Given the description of an element on the screen output the (x, y) to click on. 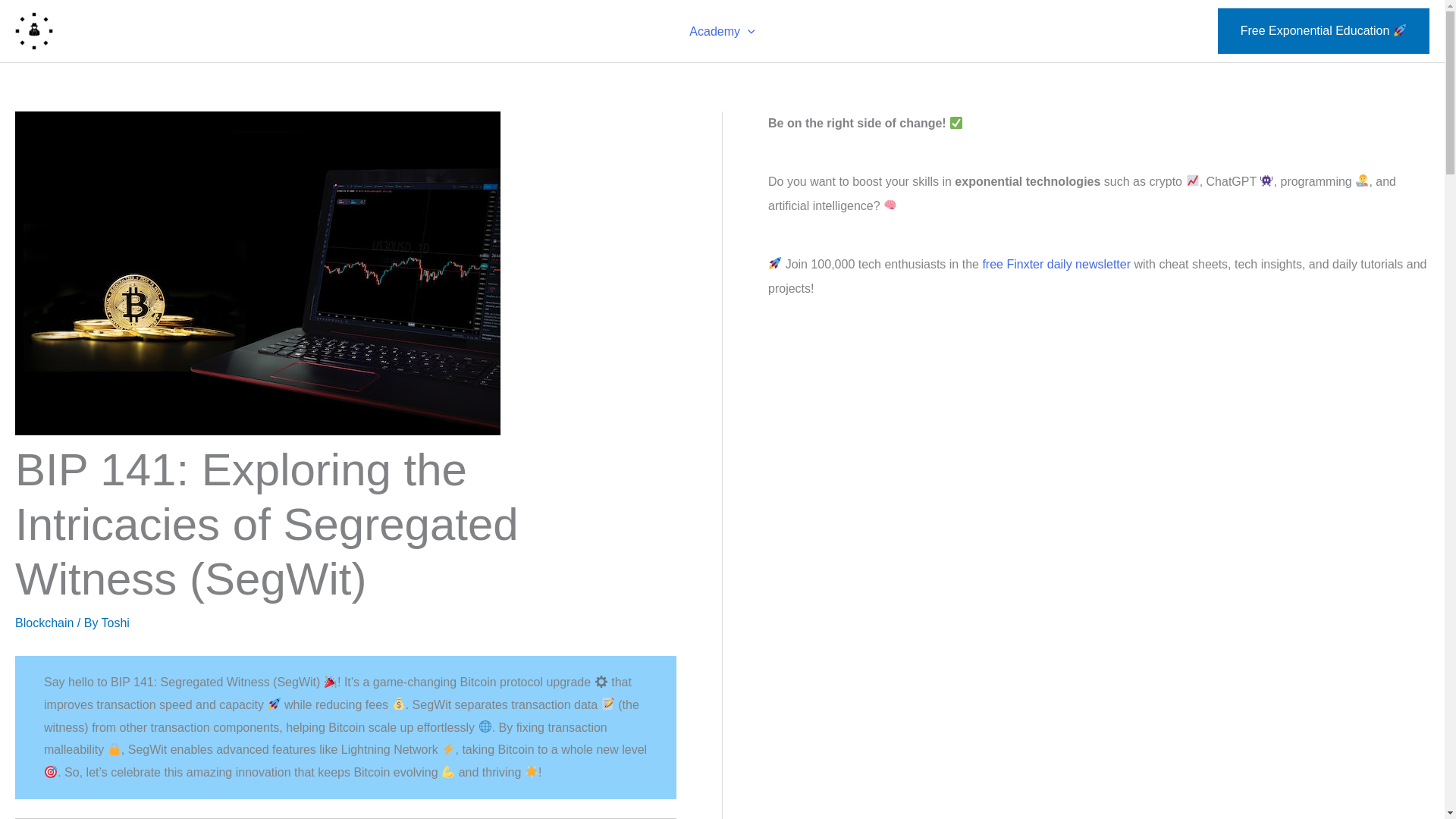
View all posts by Toshi (115, 622)
Toshi (115, 622)
Free Exponential Education (1323, 31)
Academy (722, 30)
Blockchain (44, 622)
